Given the description of an element on the screen output the (x, y) to click on. 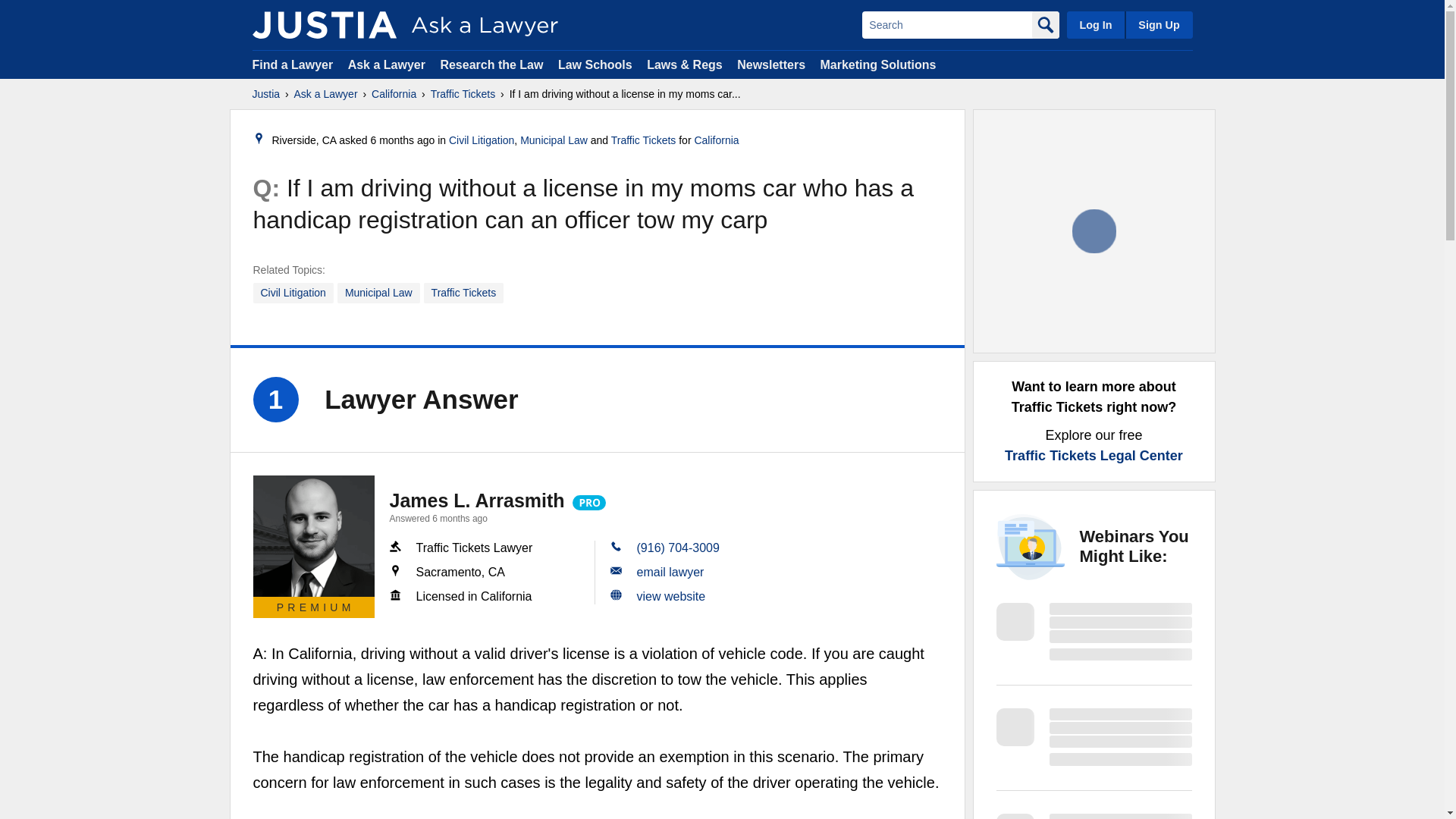
Justia (265, 93)
Find a Lawyer (292, 64)
James L. Arrasmith (477, 500)
Civil Litigation (293, 292)
Civil Litigation (480, 140)
Sign Up (1158, 24)
Log In (1094, 24)
Municipal Law (553, 140)
Search (945, 24)
Research the Law (491, 64)
Ask a Lawyer (388, 64)
James L. Arrasmith (313, 536)
California (716, 140)
Ask a Lawyer (326, 93)
Marketing Solutions (877, 64)
